Given the description of an element on the screen output the (x, y) to click on. 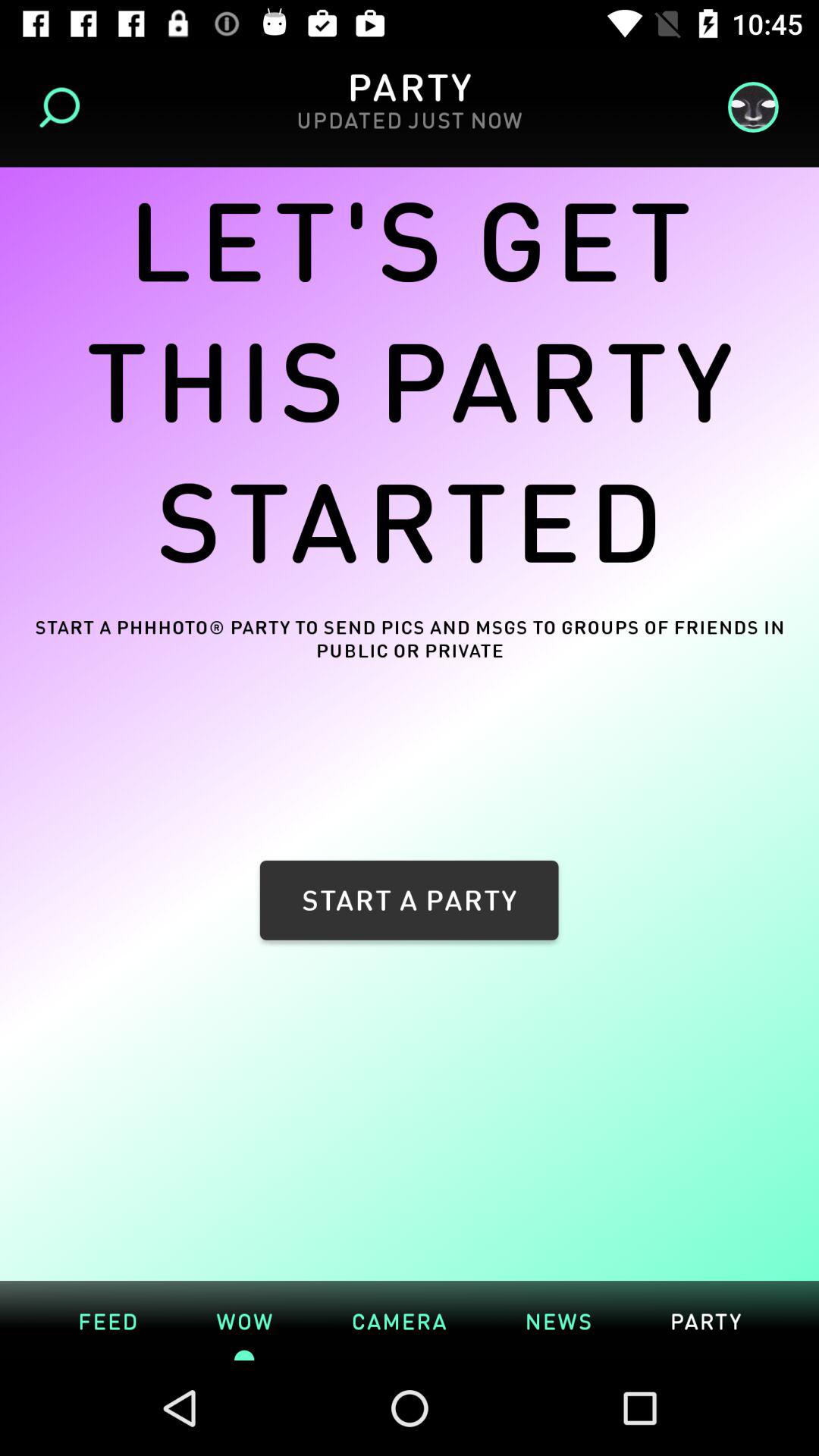
choose icon at the top left corner (64, 107)
